Given the description of an element on the screen output the (x, y) to click on. 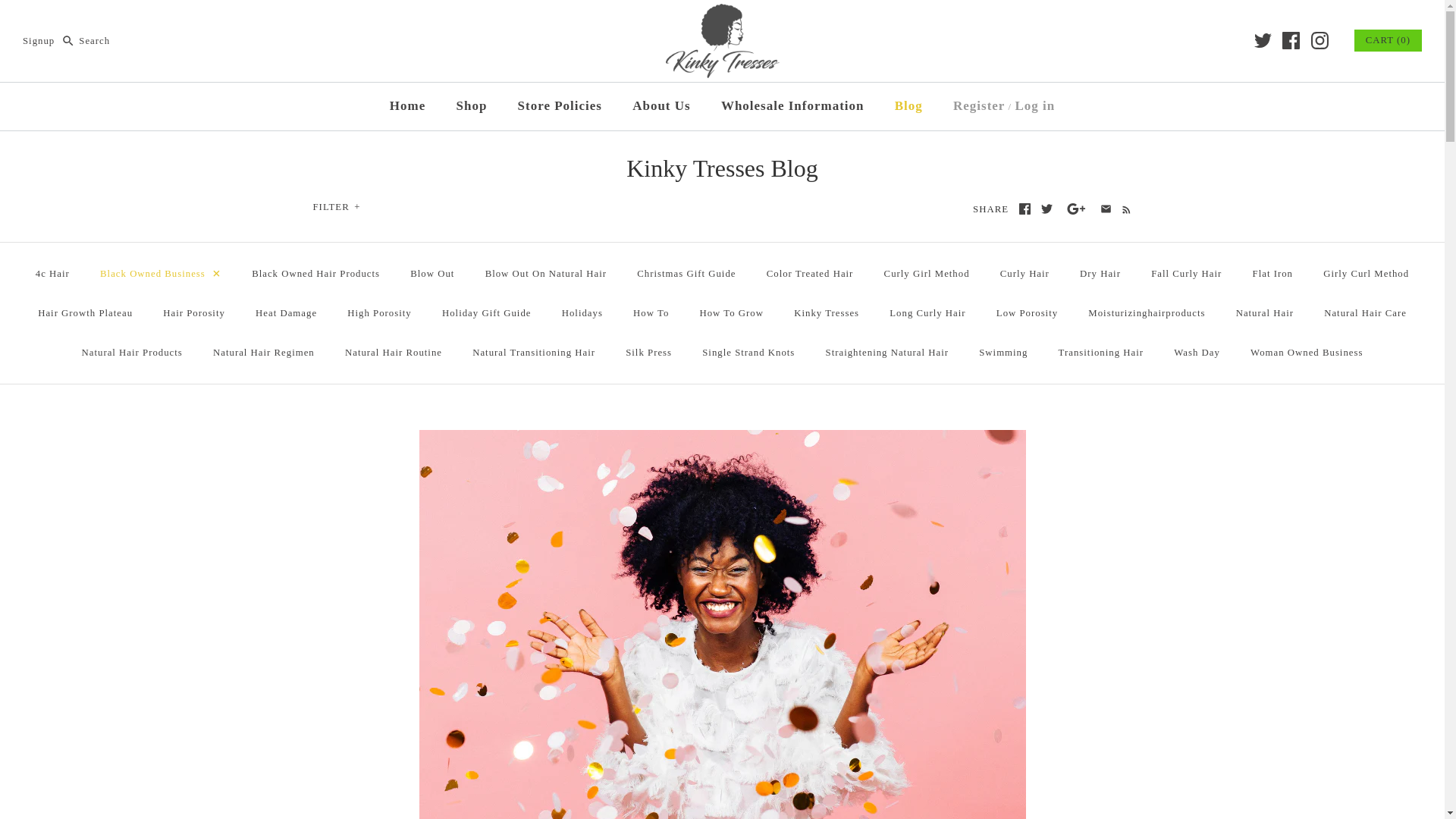
Signup (39, 40)
Show articles tagged blow out on natural hair (545, 273)
Blow Out (431, 273)
Share using email (1104, 208)
4c Hair (51, 273)
Share on Twitter (1046, 208)
Twitter (1046, 208)
Blow Out On Natural Hair (545, 273)
GooglePlus (1075, 208)
Twitter (1046, 208)
GooglePlus (1075, 208)
Share on Facebook (1024, 208)
Shop (471, 106)
About Us (661, 106)
Facebook (1291, 40)
